Given the description of an element on the screen output the (x, y) to click on. 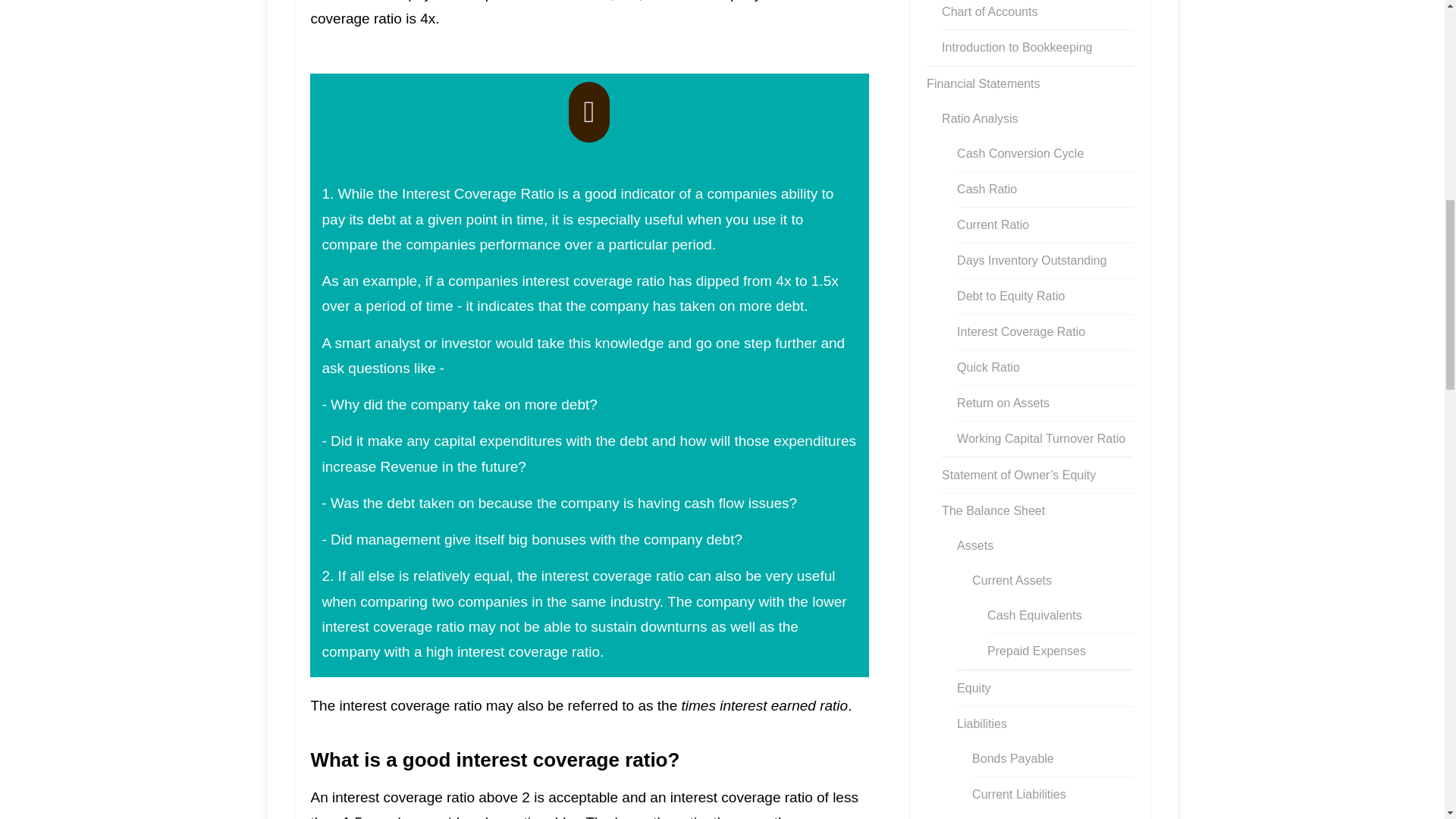
Ratio Analysis (979, 118)
Chart of Accounts (989, 14)
Financial Statements (982, 83)
Introduction to Bookkeeping (1017, 47)
